Given the description of an element on the screen output the (x, y) to click on. 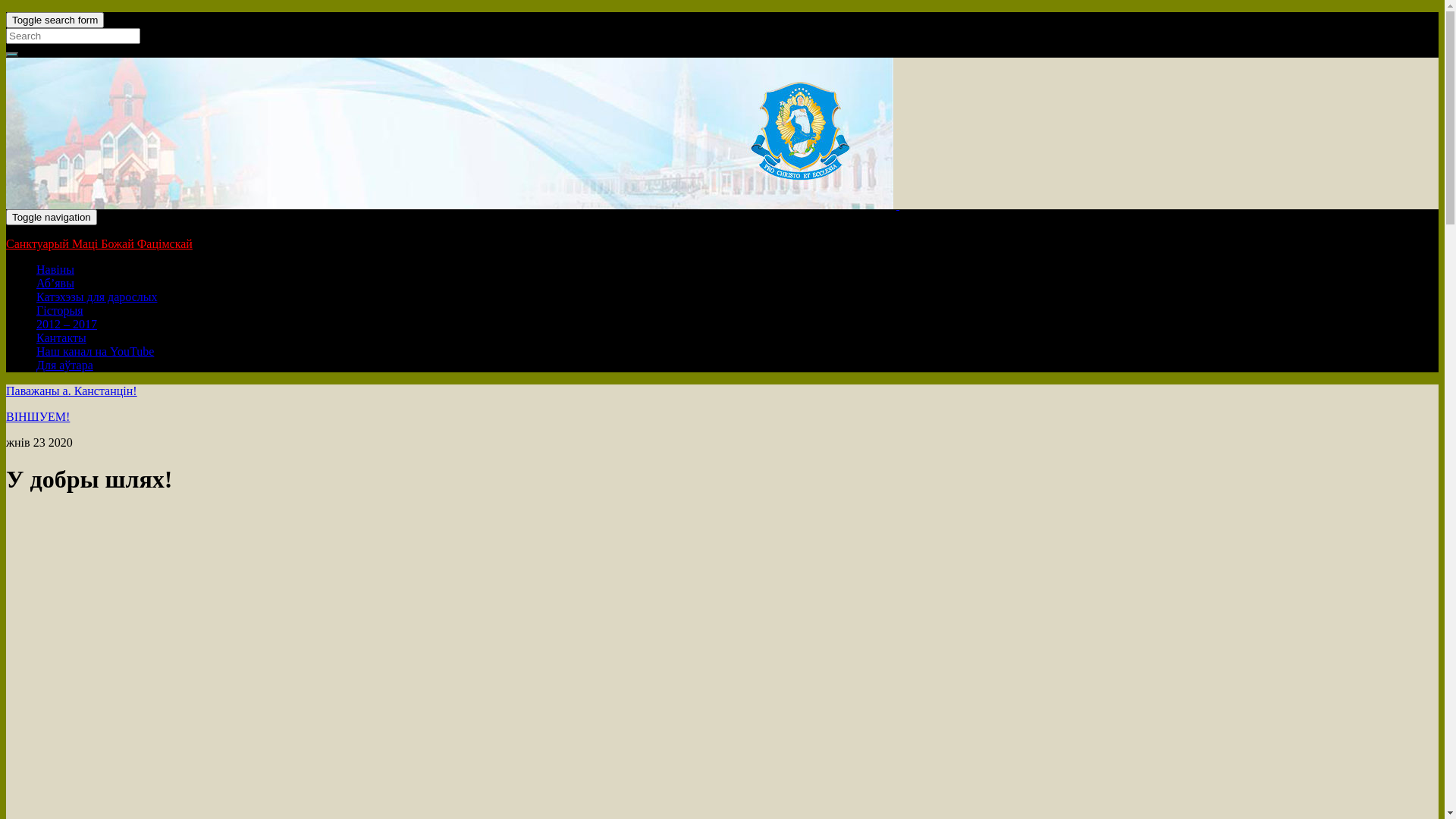
Toggle search form Element type: text (54, 20)
Toggle navigation Element type: text (51, 217)
Go back to the front page Element type: hover (897, 204)
  Element type: text (897, 204)
